Given the description of an element on the screen output the (x, y) to click on. 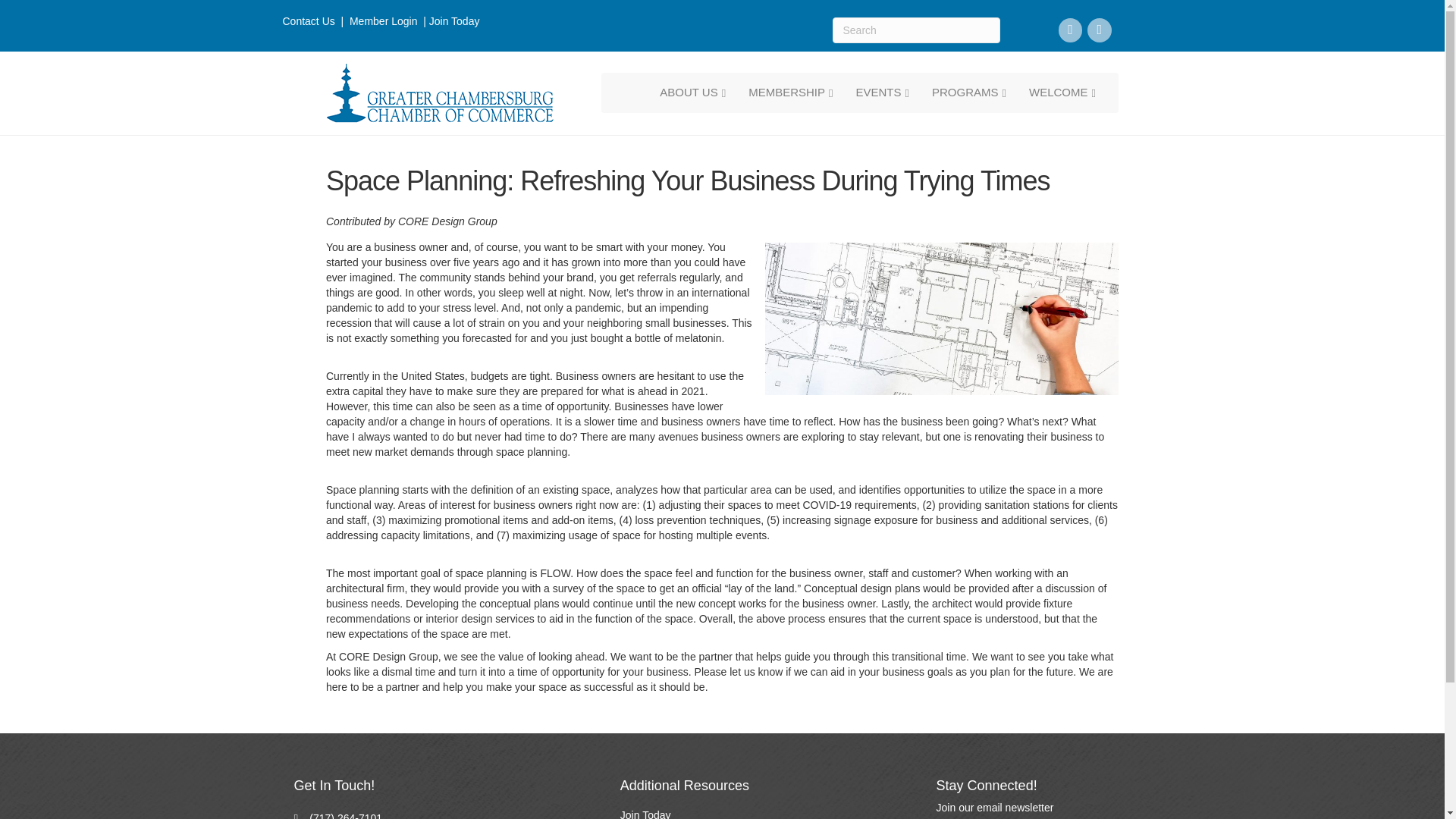
Type and press Enter to search. (915, 30)
Join Today (454, 21)
Contact Us (308, 21)
Member Login (383, 21)
